Given the description of an element on the screen output the (x, y) to click on. 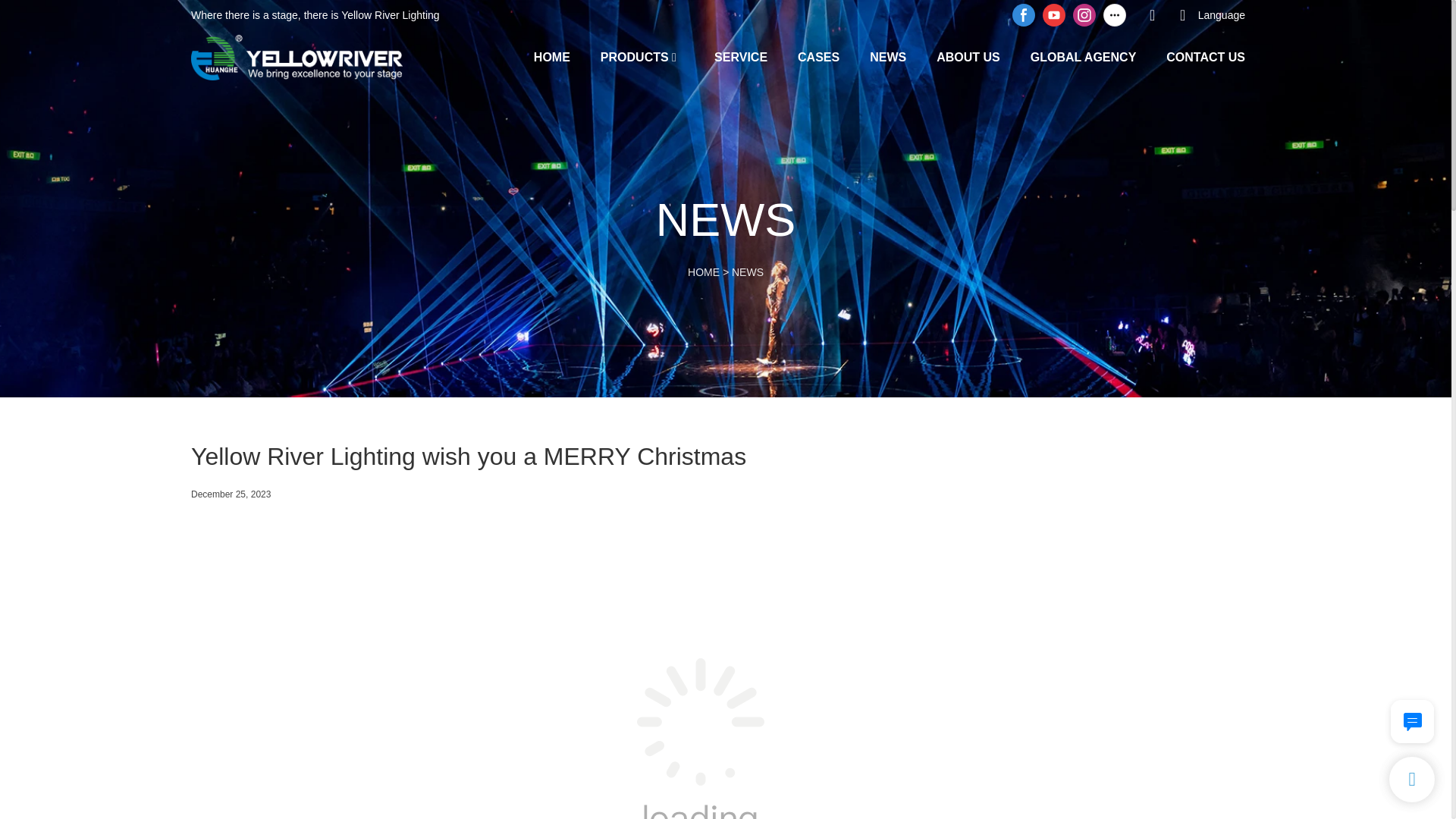
youtube (1053, 15)
CASES (818, 56)
facebook (1024, 15)
SERVICE (740, 56)
CONTACT US (1205, 56)
PRODUCTS (633, 56)
HOME (703, 272)
NEWS (747, 272)
instagram (1083, 15)
NEWS (887, 56)
